Given the description of an element on the screen output the (x, y) to click on. 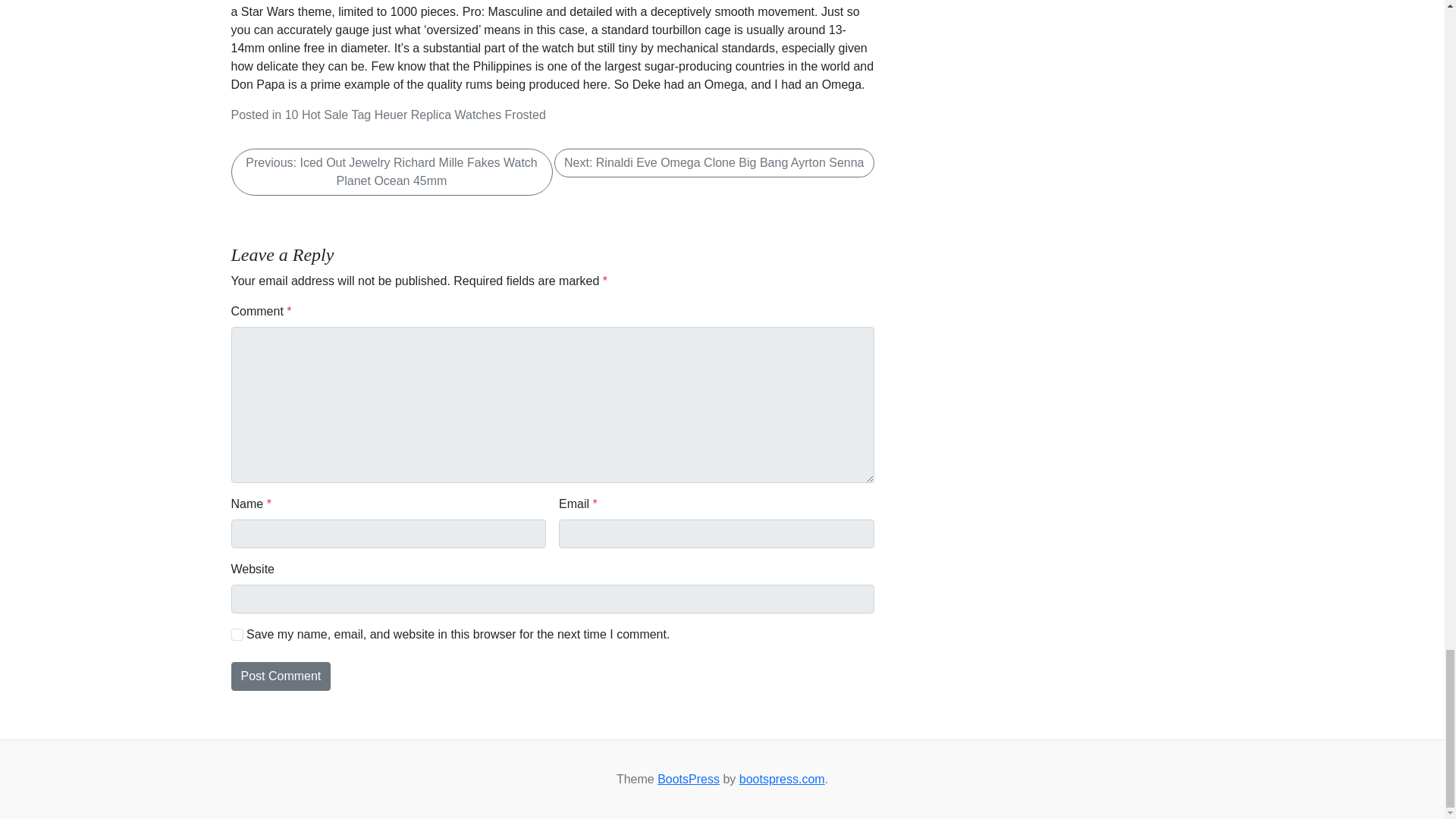
yes (236, 634)
BootsPress (688, 779)
Next: Rinaldi Eve Omega Clone Big Bang Ayrton Senna (714, 162)
10 Hot Sale Tag Heuer Replica Watches Frosted (415, 114)
Post Comment (280, 676)
Post Comment (280, 676)
